Given the description of an element on the screen output the (x, y) to click on. 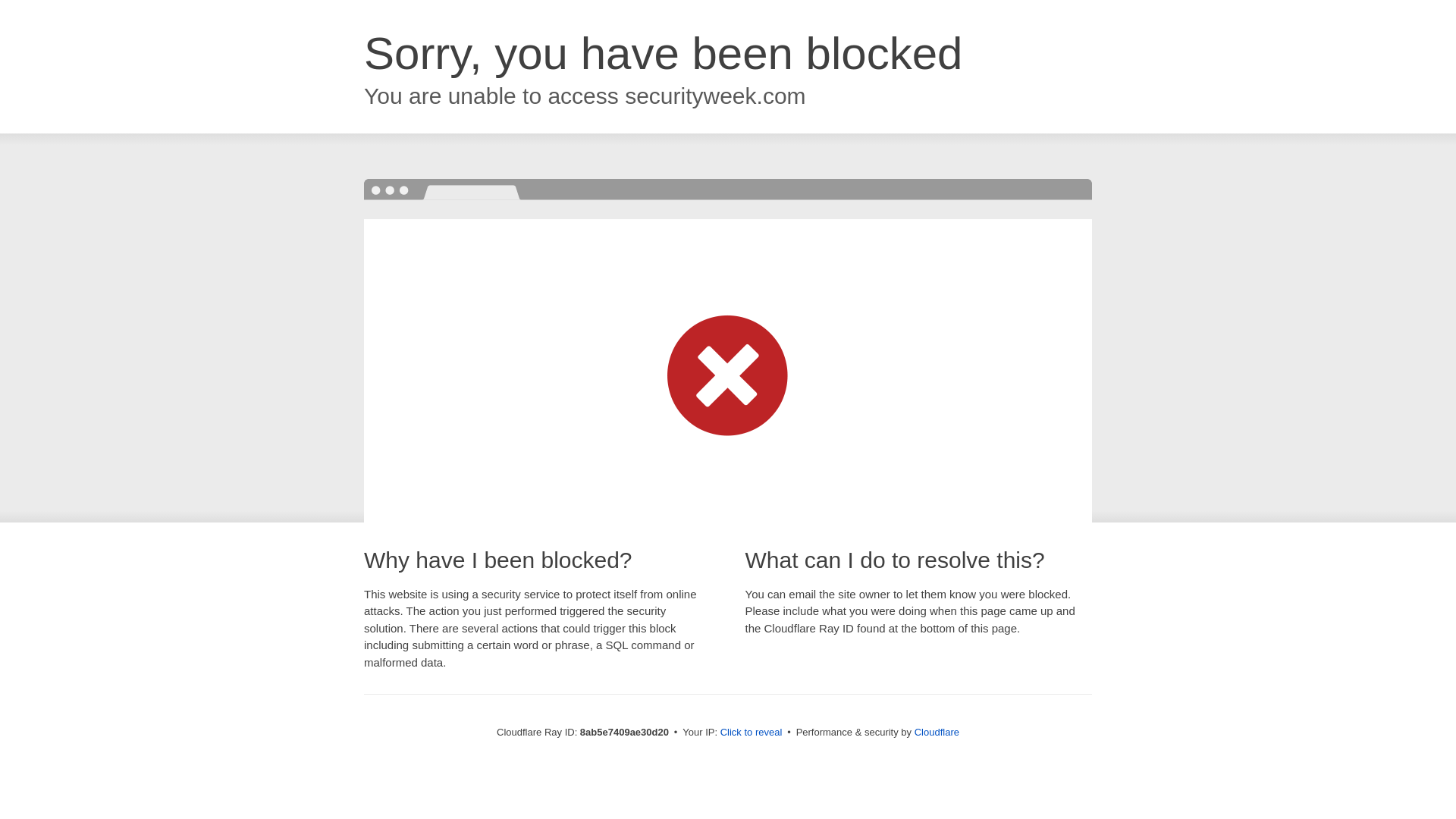
Cloudflare (936, 731)
Click to reveal (751, 732)
